Given the description of an element on the screen output the (x, y) to click on. 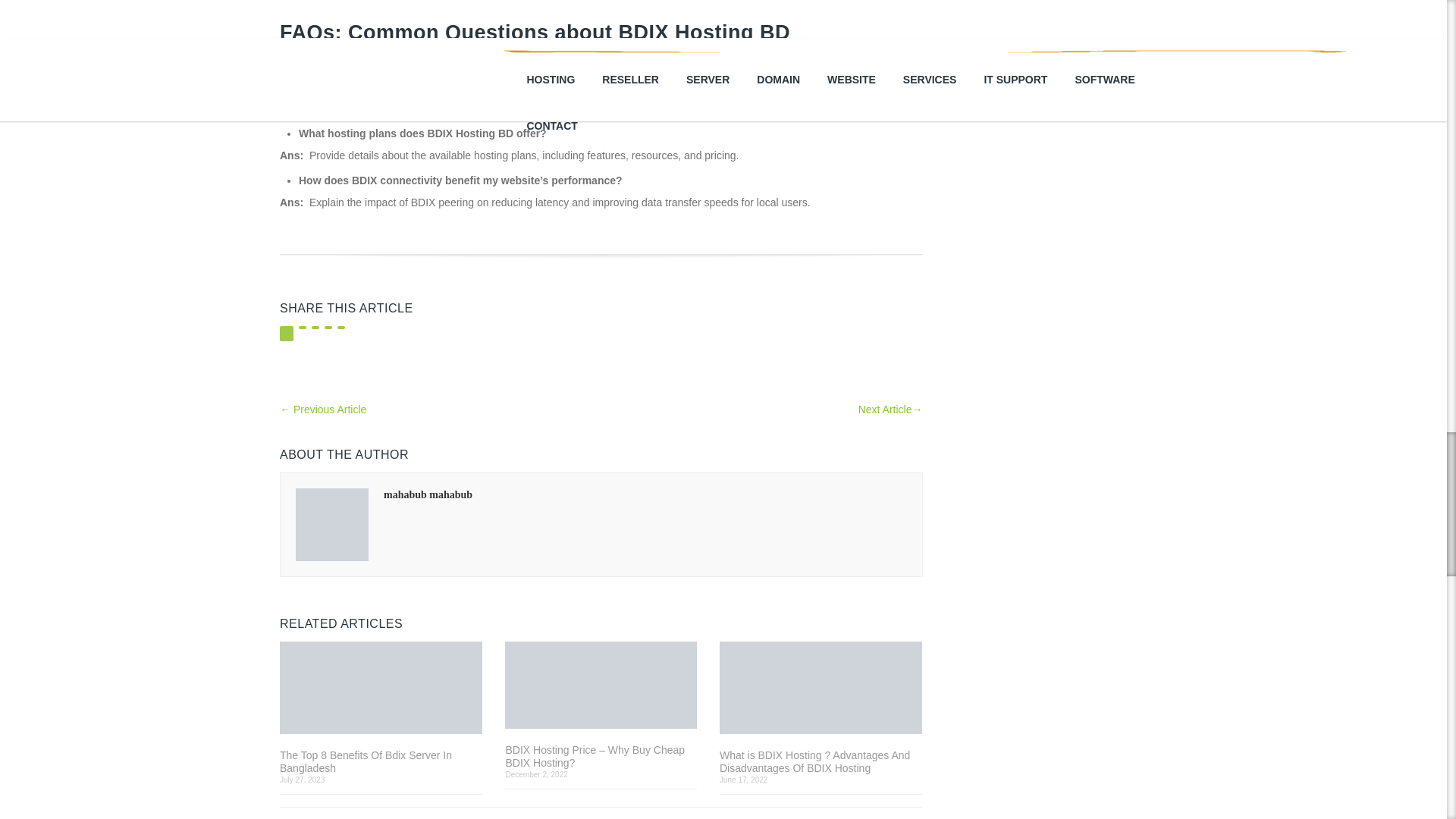
Permalink to The Top 8 Benefits Of Bdix Server In Bangladesh (380, 761)
Permalink to The Top 8 Benefits Of Bdix Server In Bangladesh (380, 689)
